Given the description of an element on the screen output the (x, y) to click on. 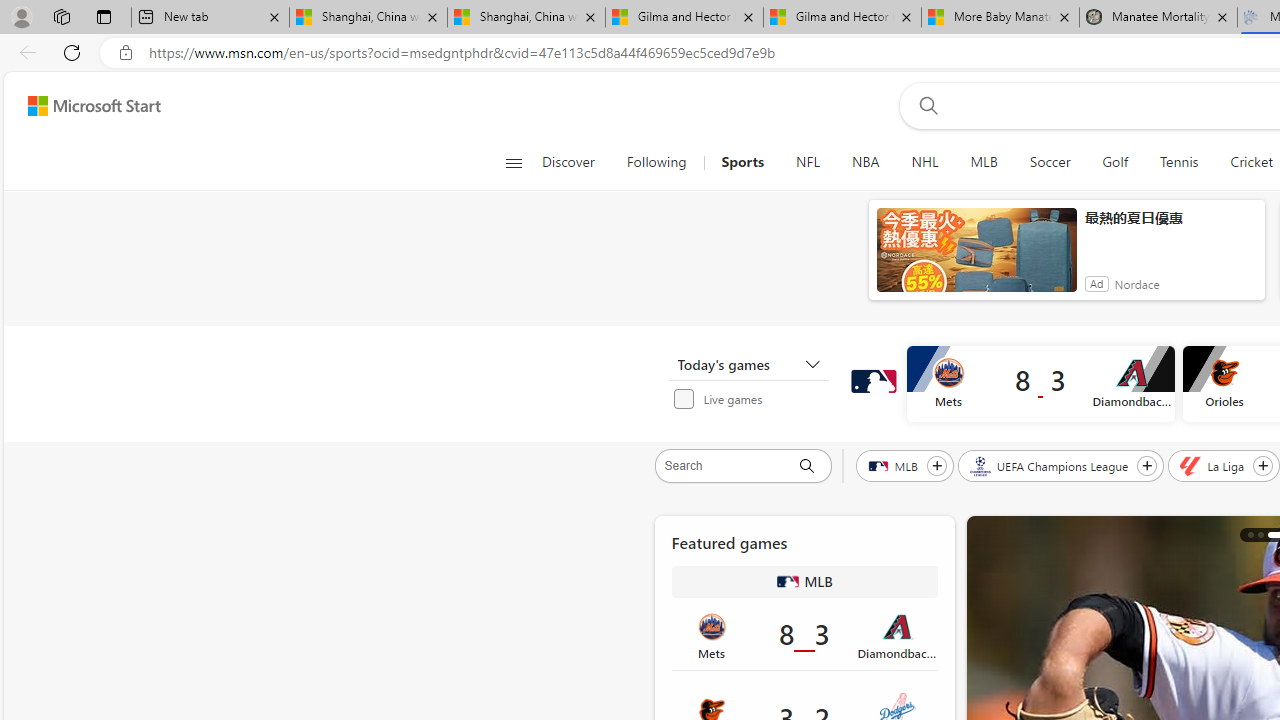
Follow UEFA Champions League (1147, 465)
NBA (866, 162)
Follow La Liga (1263, 465)
View site information (125, 53)
NFL (807, 162)
Microsoft Start (94, 105)
UEFA Champions League (1050, 465)
Soccer (1050, 162)
La Liga (1213, 465)
